Given the description of an element on the screen output the (x, y) to click on. 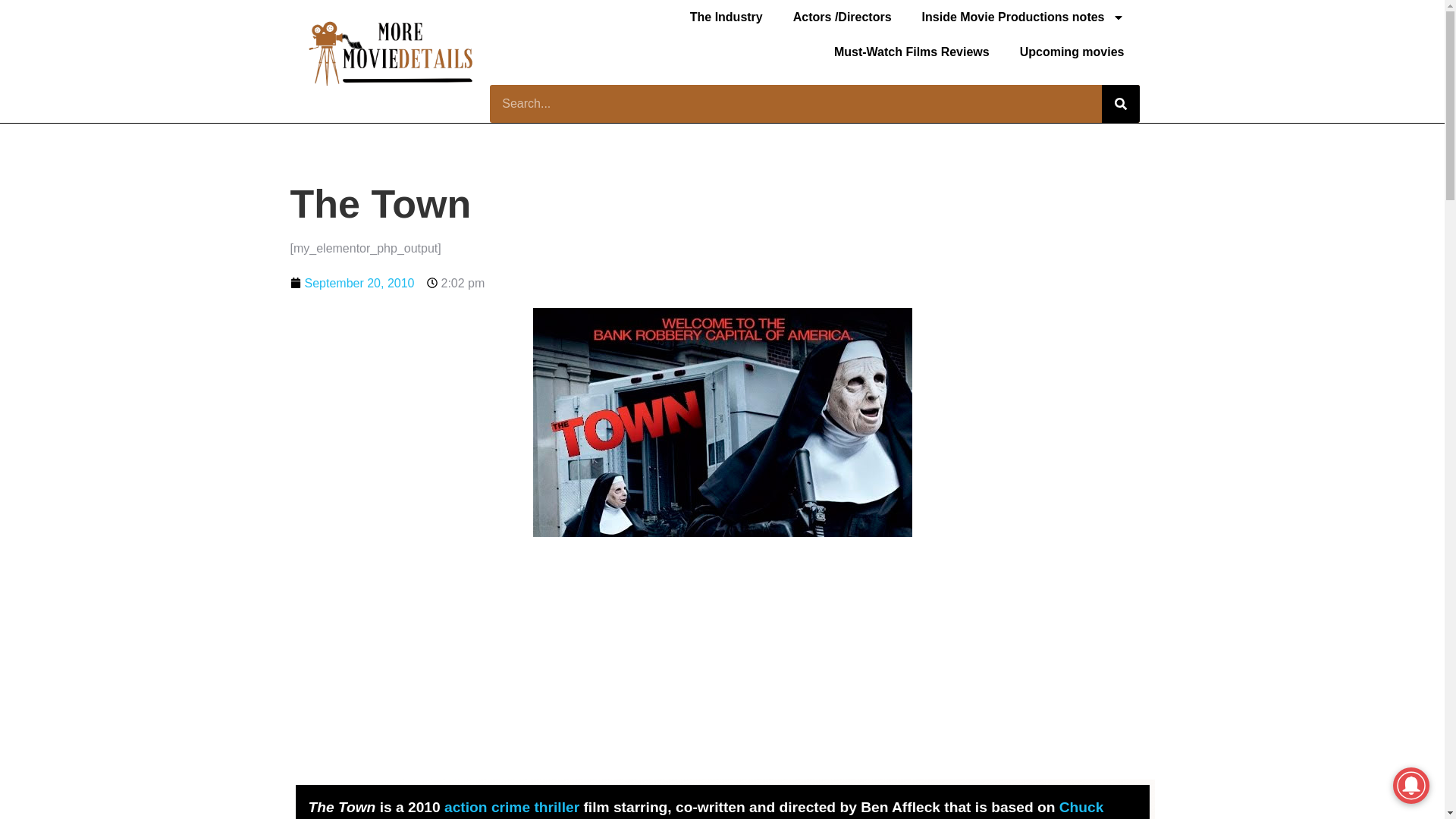
The Industry (726, 17)
Inside Movie Productions notes (1023, 17)
Upcoming movies (1072, 52)
All about Movies (1023, 17)
Posts tagged with crime thriller (535, 806)
Must-Watch Films Reviews (911, 52)
Posts tagged with action (465, 806)
Posts tagged with chuck hogan (705, 809)
